Given the description of an element on the screen output the (x, y) to click on. 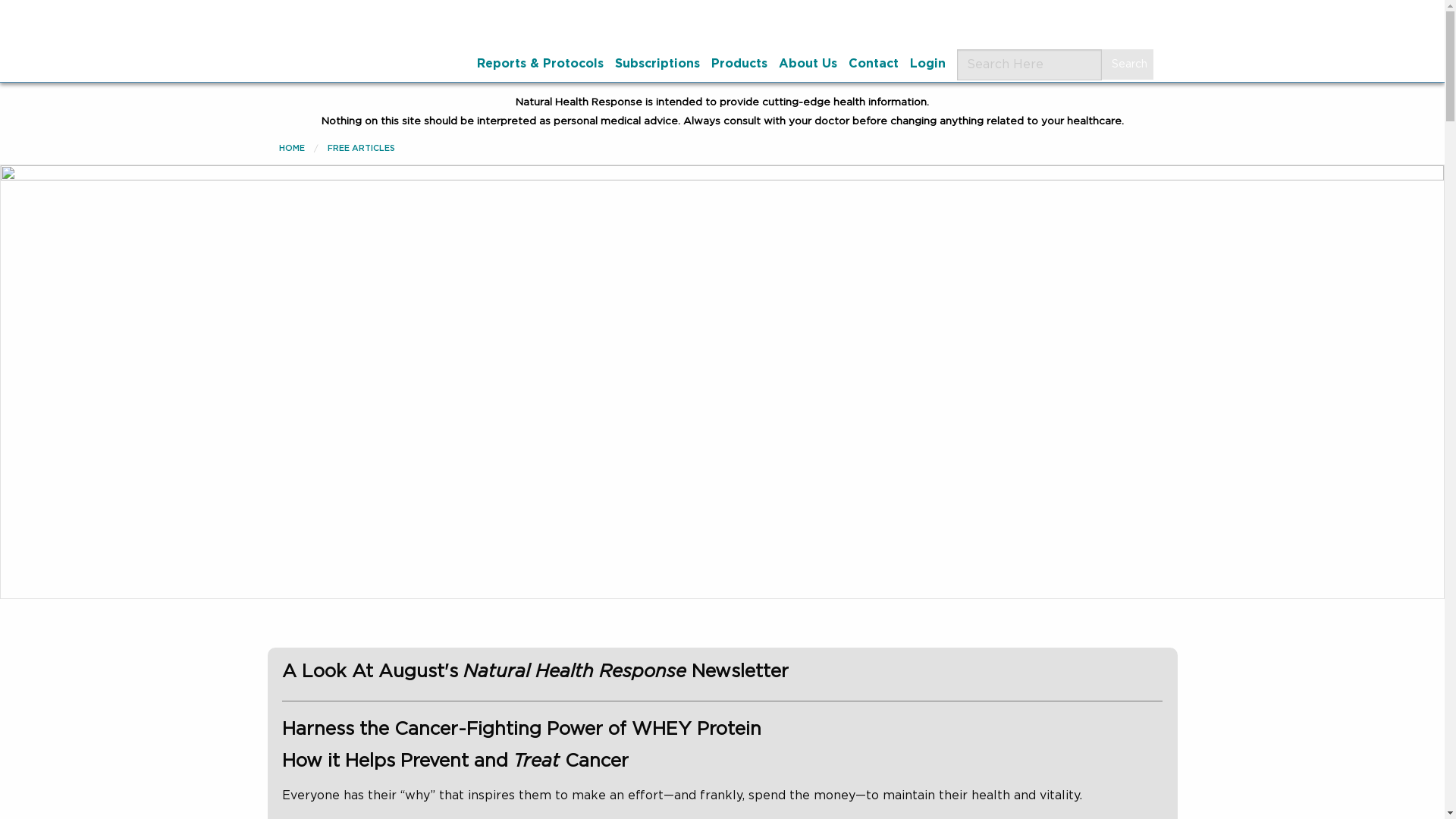
FREE ARTICLES (360, 148)
Search (1127, 64)
Contact (872, 63)
About Us (806, 63)
HOME (291, 148)
Natural Health Response (382, 22)
Search (1127, 64)
Login (927, 63)
Products (739, 63)
Subscriptions (656, 63)
